Given the description of an element on the screen output the (x, y) to click on. 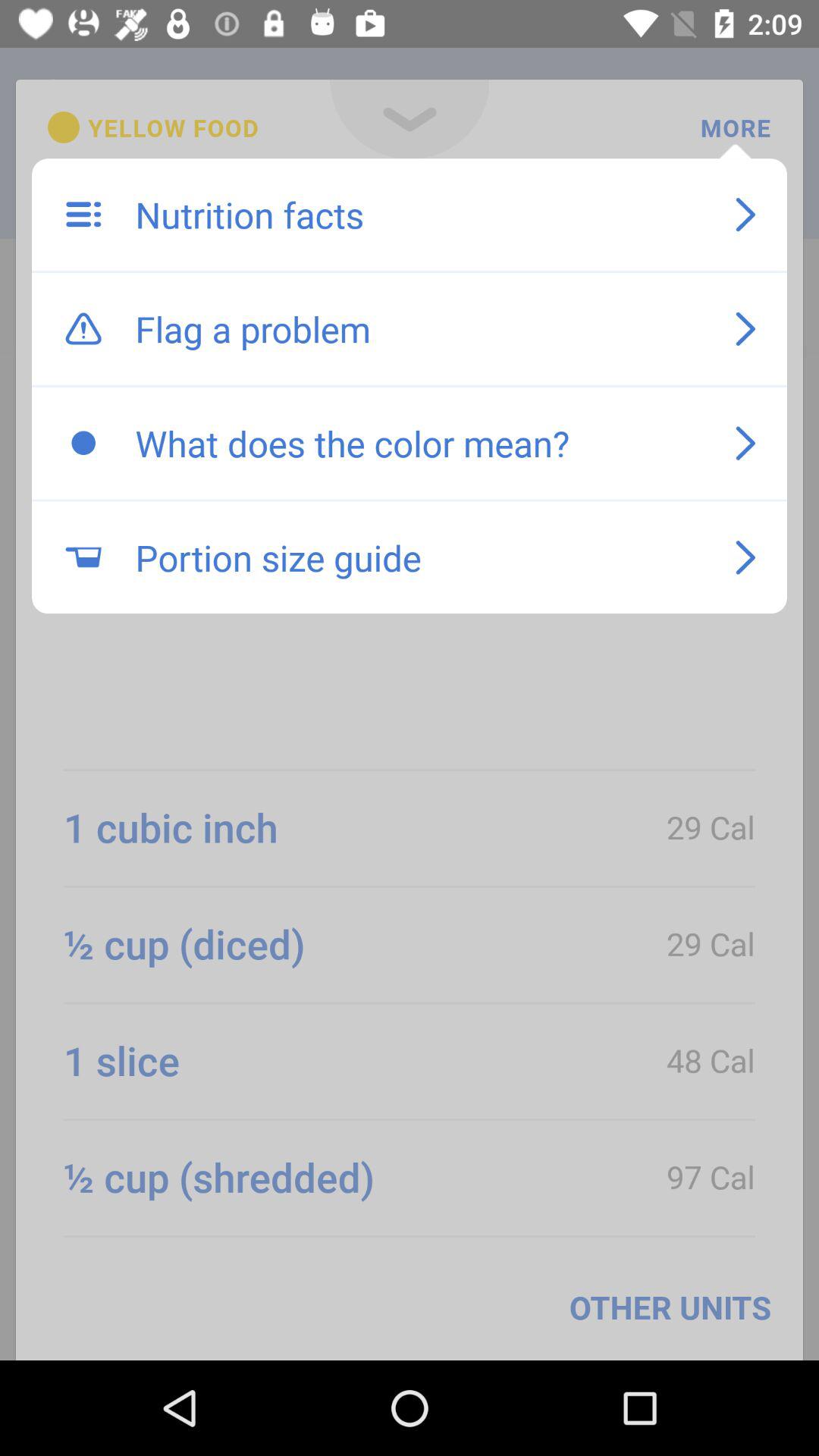
swipe to nutrition facts item (419, 214)
